Given the description of an element on the screen output the (x, y) to click on. 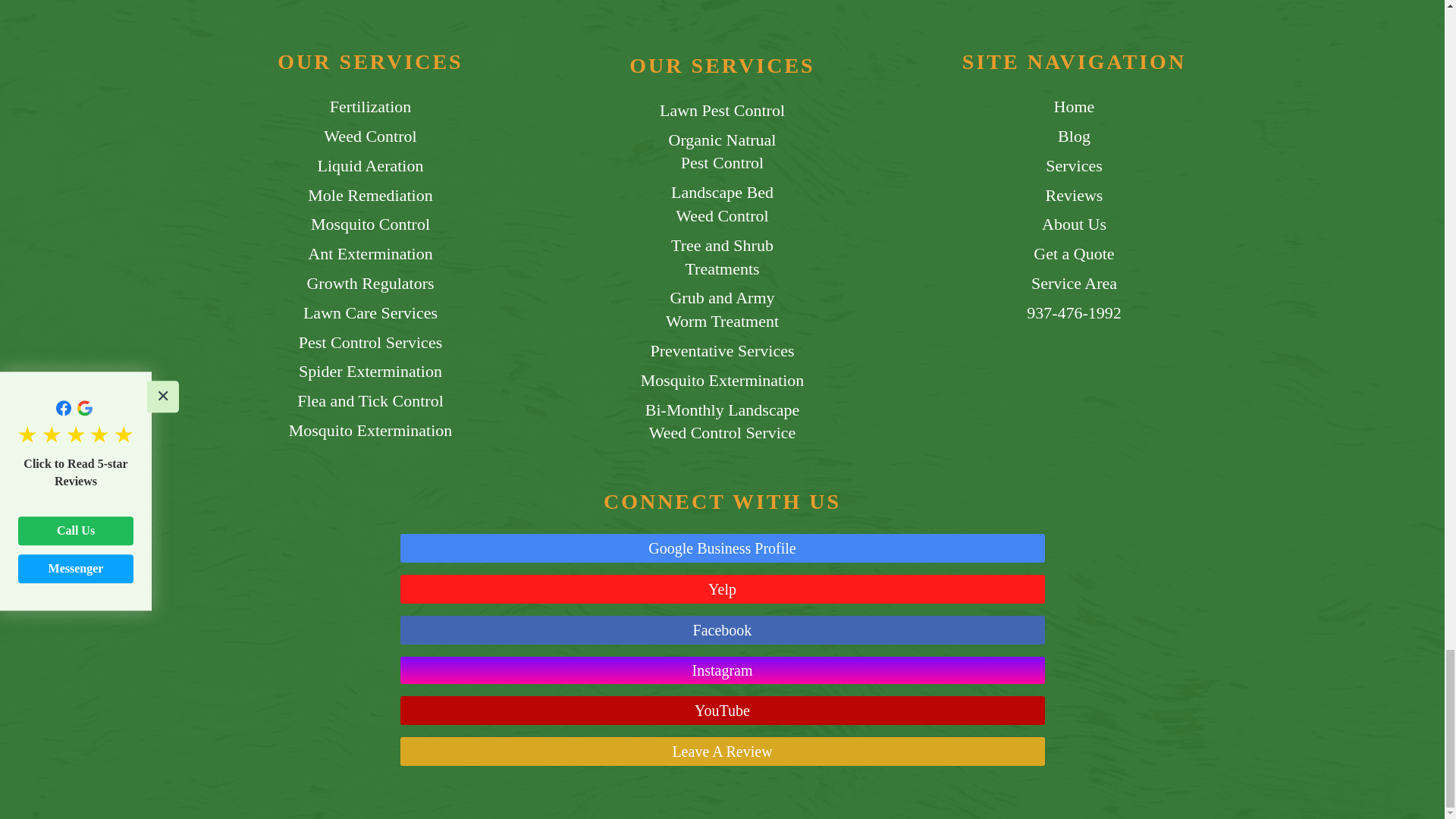
Mosquito Control (370, 224)
Lawn Pest Control (721, 110)
Mosquito Extermination (722, 381)
Mole Remediation (369, 196)
Liquid Aeration (721, 309)
Flea and Tick Control (370, 166)
Home (370, 401)
Pest Control Services (1074, 106)
